Given the description of an element on the screen output the (x, y) to click on. 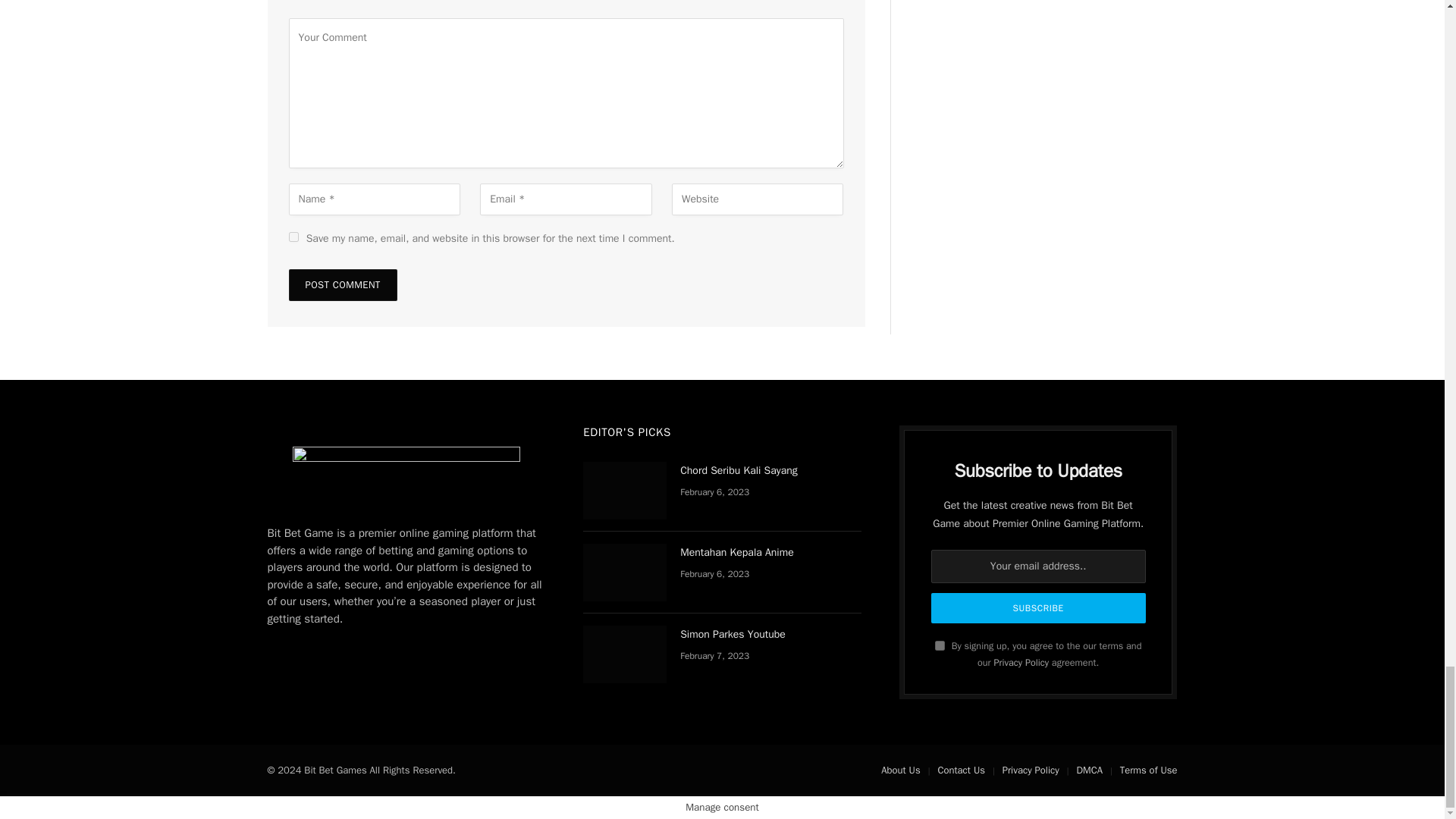
Subscribe (1038, 607)
Post Comment (342, 285)
yes (293, 236)
on (939, 645)
